Given the description of an element on the screen output the (x, y) to click on. 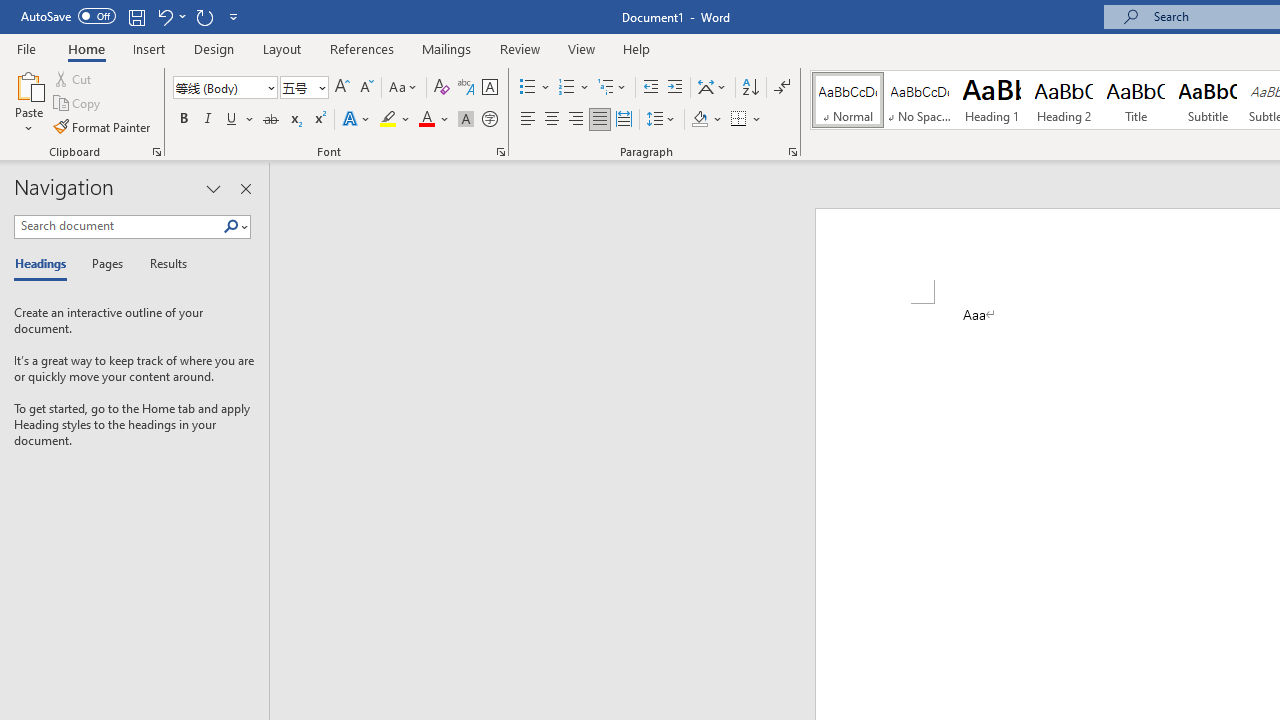
Subtitle (1208, 100)
Format Painter (103, 126)
Increase Indent (675, 87)
Enclose Characters... (489, 119)
Font... (500, 151)
Title (1135, 100)
Results (161, 264)
Line and Paragraph Spacing (661, 119)
Asian Layout (712, 87)
Shading RGB(0, 0, 0) (699, 119)
